Given the description of an element on the screen output the (x, y) to click on. 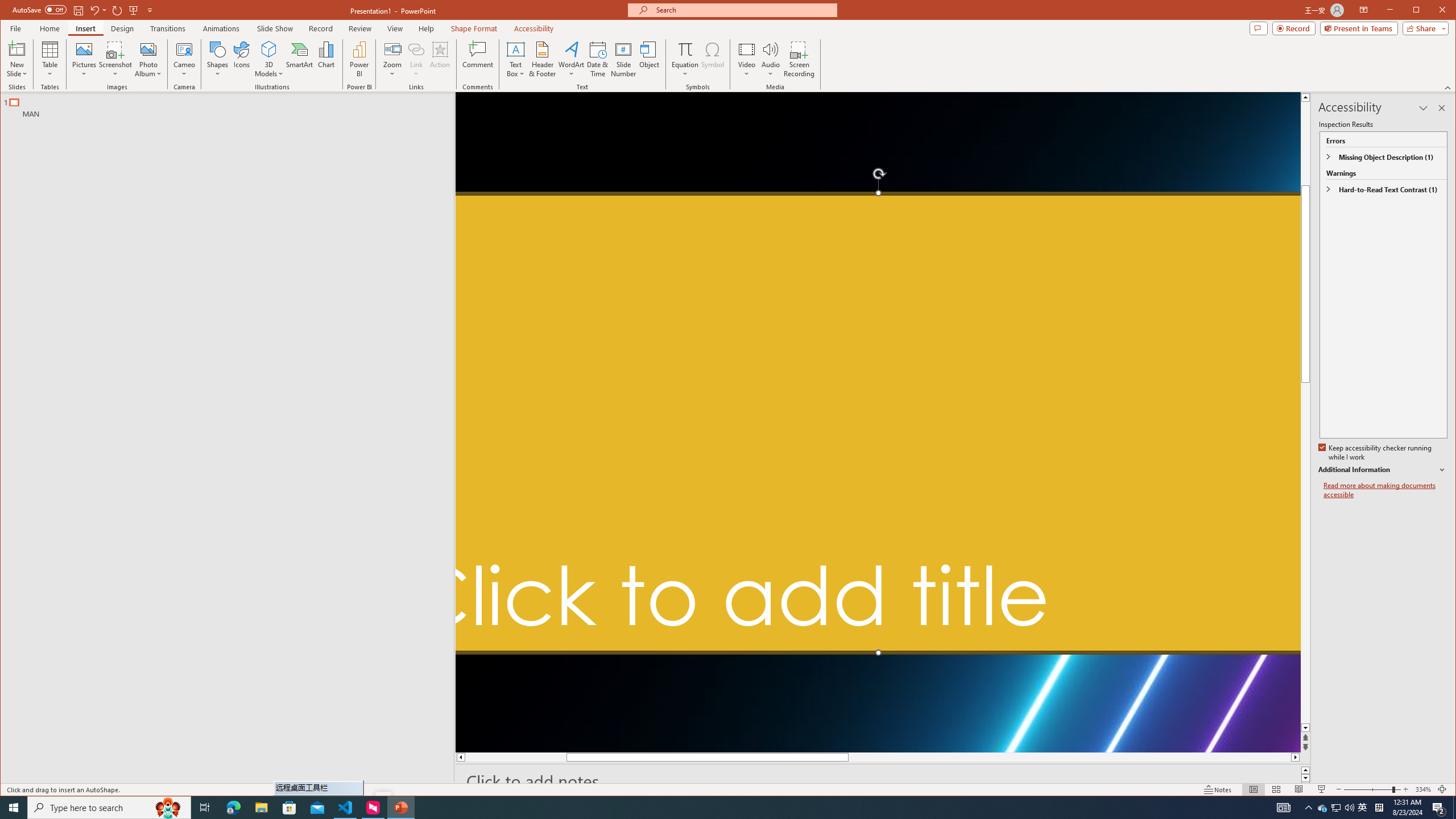
Icons (241, 59)
Action (440, 59)
